Given the description of an element on the screen output the (x, y) to click on. 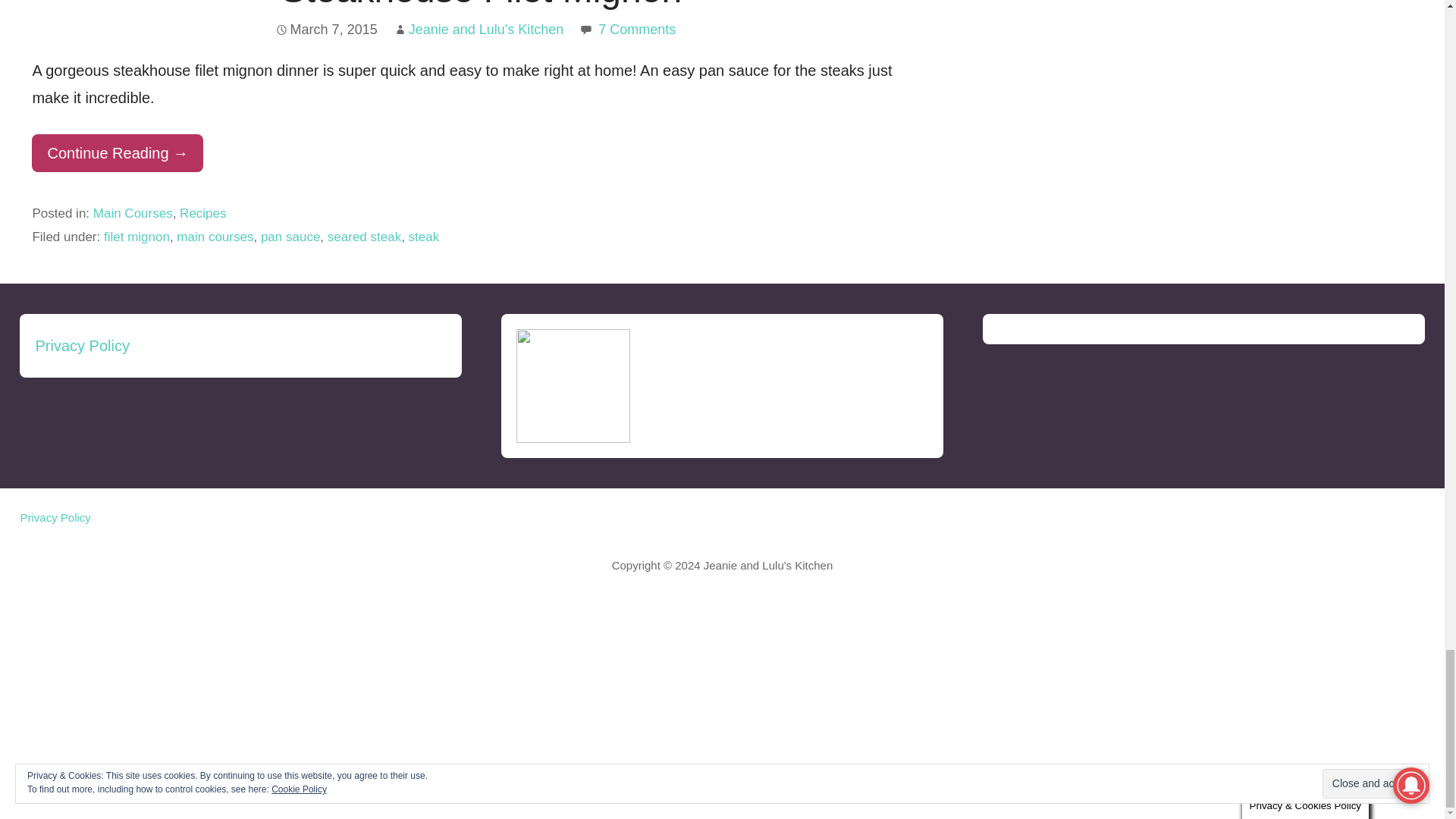
Posts by Jeanie and Lulu's Kitchen (486, 29)
